Given the description of an element on the screen output the (x, y) to click on. 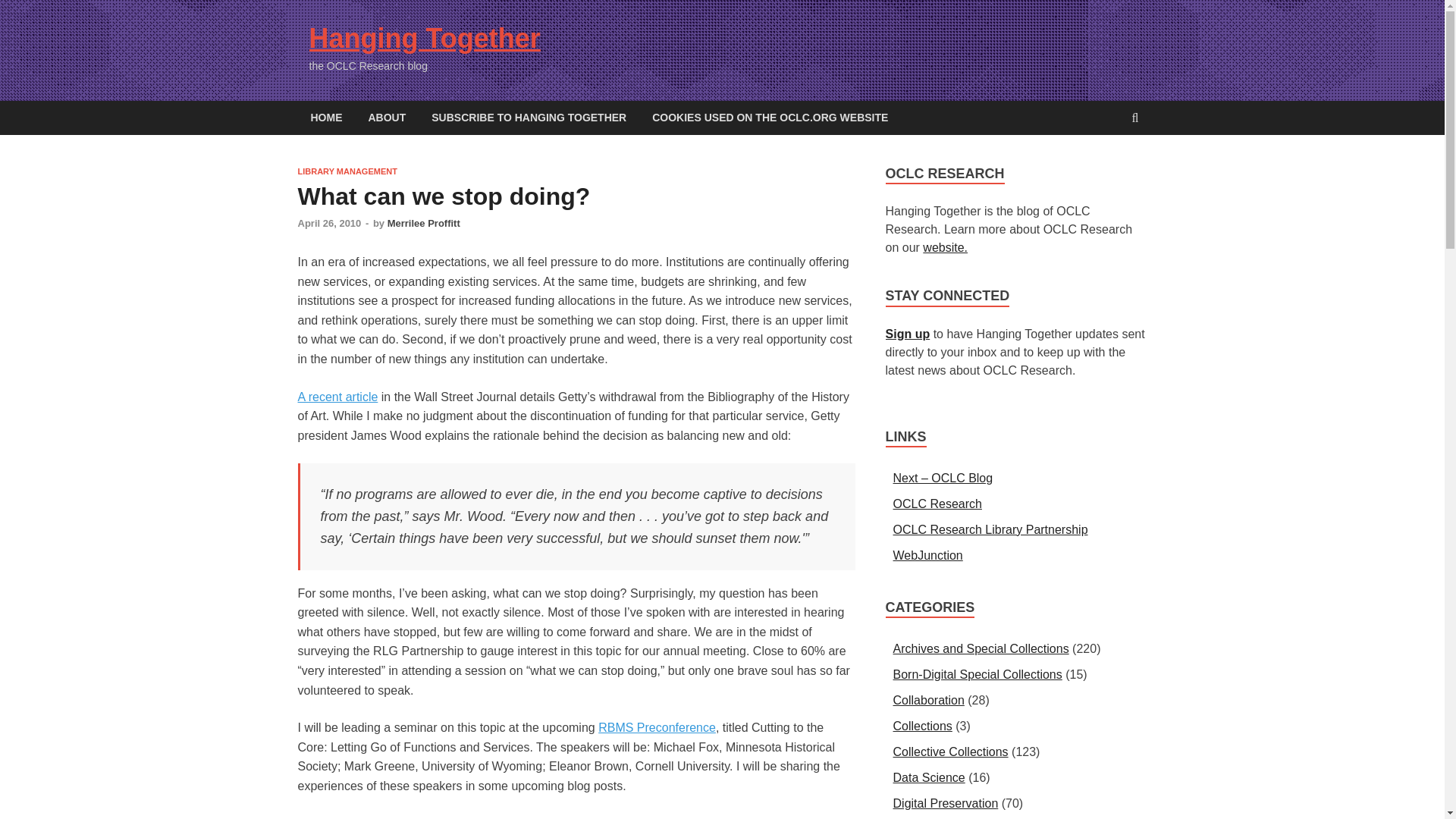
Data Science (929, 777)
website. (945, 246)
HOME (326, 117)
Archives and Special Collections (980, 648)
Hanging Together (424, 38)
Collective Collections (951, 751)
WebJunction (927, 554)
ABOUT (387, 117)
April 26, 2010 (329, 223)
SUBSCRIBE TO HANGING TOGETHER (529, 117)
Digital Preservation (945, 802)
OCLC Blog (942, 477)
Collections (922, 725)
Collaboration (928, 699)
A recent article (337, 396)
